Given the description of an element on the screen output the (x, y) to click on. 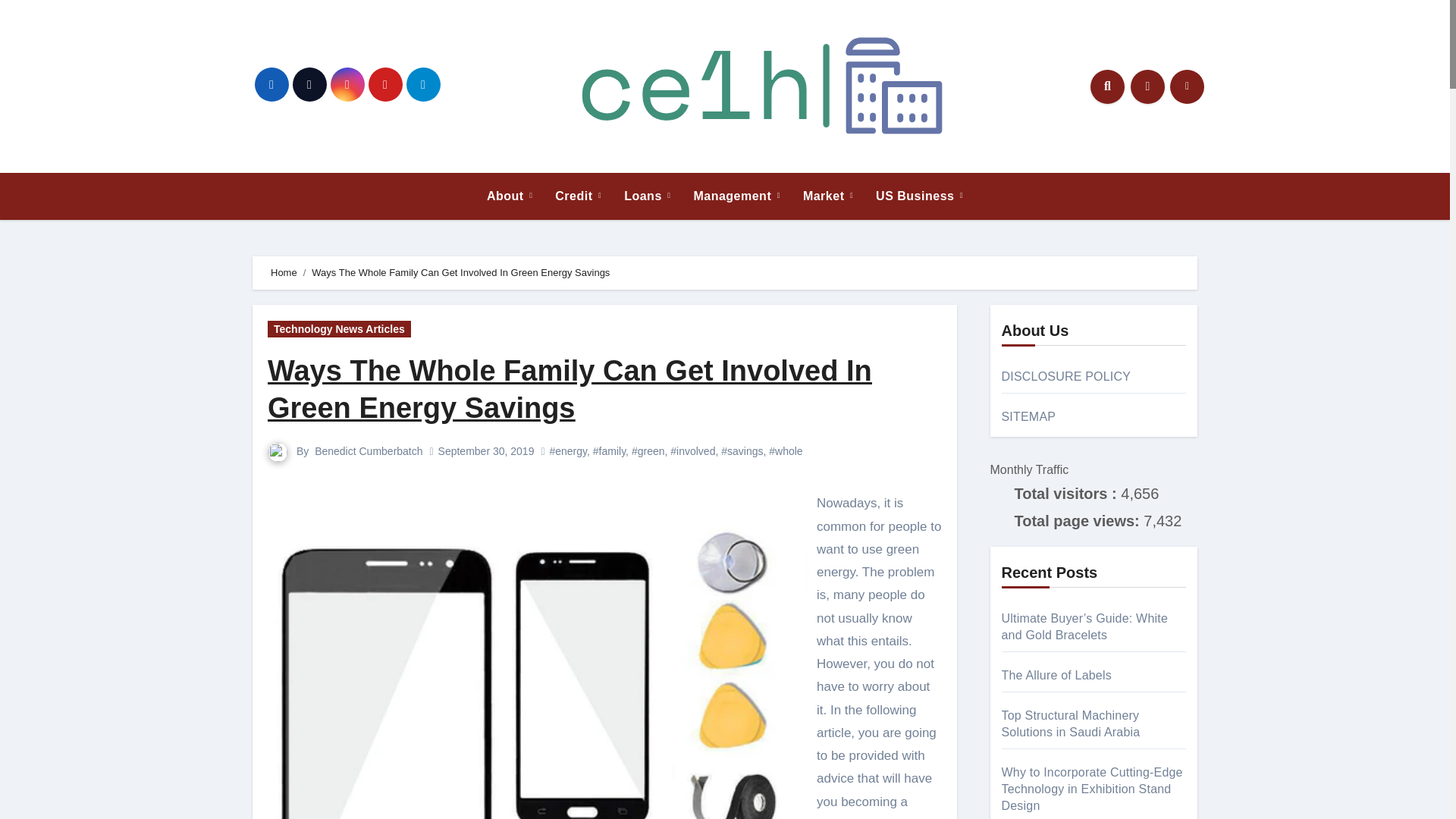
Management (735, 195)
Credit (577, 195)
US Business (919, 195)
About (509, 195)
Credit (577, 195)
Market (828, 195)
Management (735, 195)
Loans (646, 195)
Loans (646, 195)
About (509, 195)
